Given the description of an element on the screen output the (x, y) to click on. 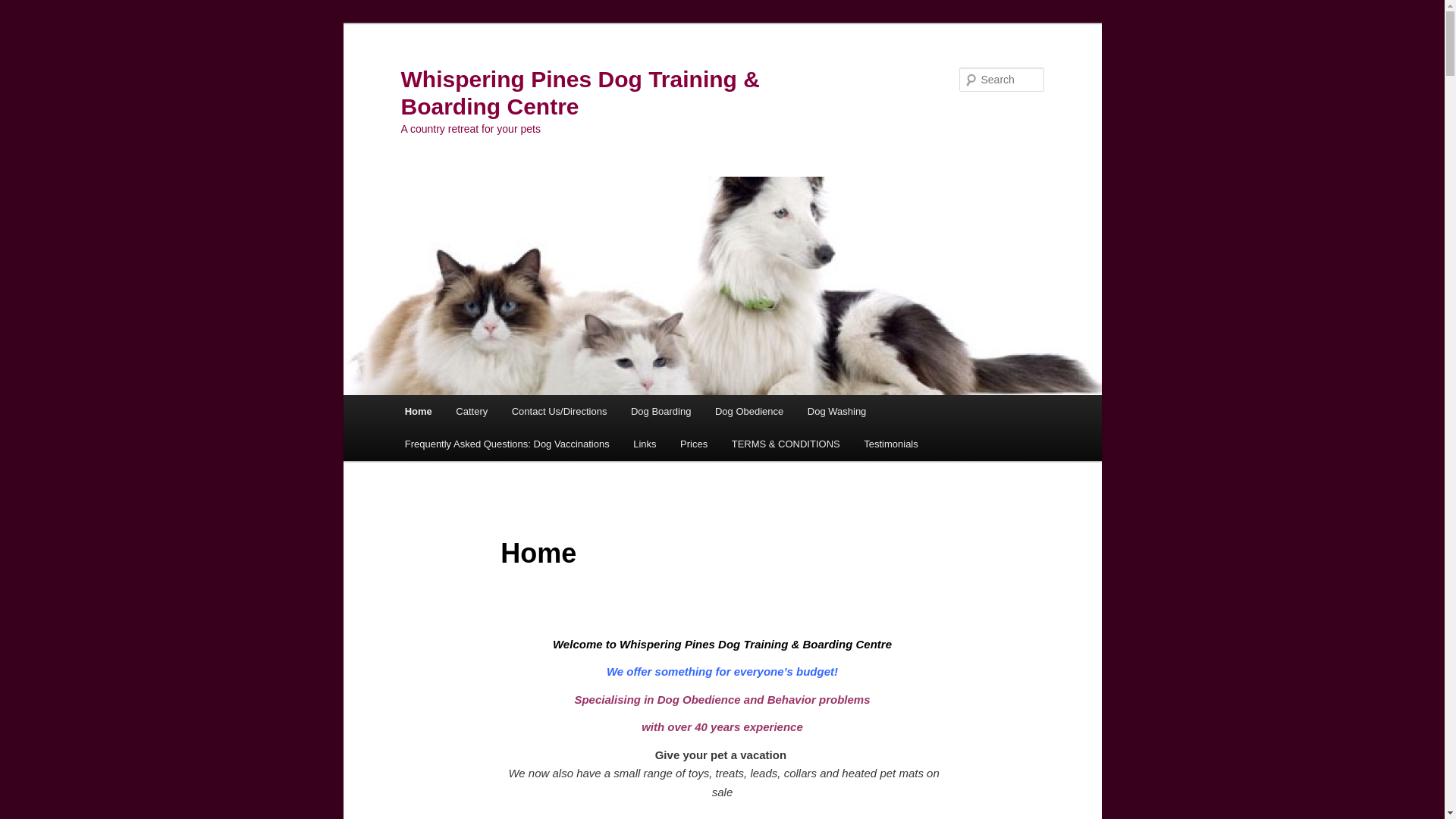
Dog Boarding Element type: text (660, 411)
Prices Element type: text (693, 443)
Cattery Element type: text (471, 411)
Whispering Pines Dog Training & Boarding Centre Element type: text (579, 92)
Testimonials Element type: text (890, 443)
TERMS & CONDITIONS Element type: text (785, 443)
Skip to primary content Element type: text (472, 414)
  Element type: text (787, 754)
Skip to secondary content Element type: text (479, 414)
Dog Washing Element type: text (836, 411)
Home Element type: text (418, 411)
Frequently Asked Questions: Dog Vaccinations Element type: text (506, 443)
Links Element type: text (644, 443)
Search Element type: text (24, 8)
Dog Obedience Element type: text (748, 411)
Contact Us/Directions Element type: text (558, 411)
